Given the description of an element on the screen output the (x, y) to click on. 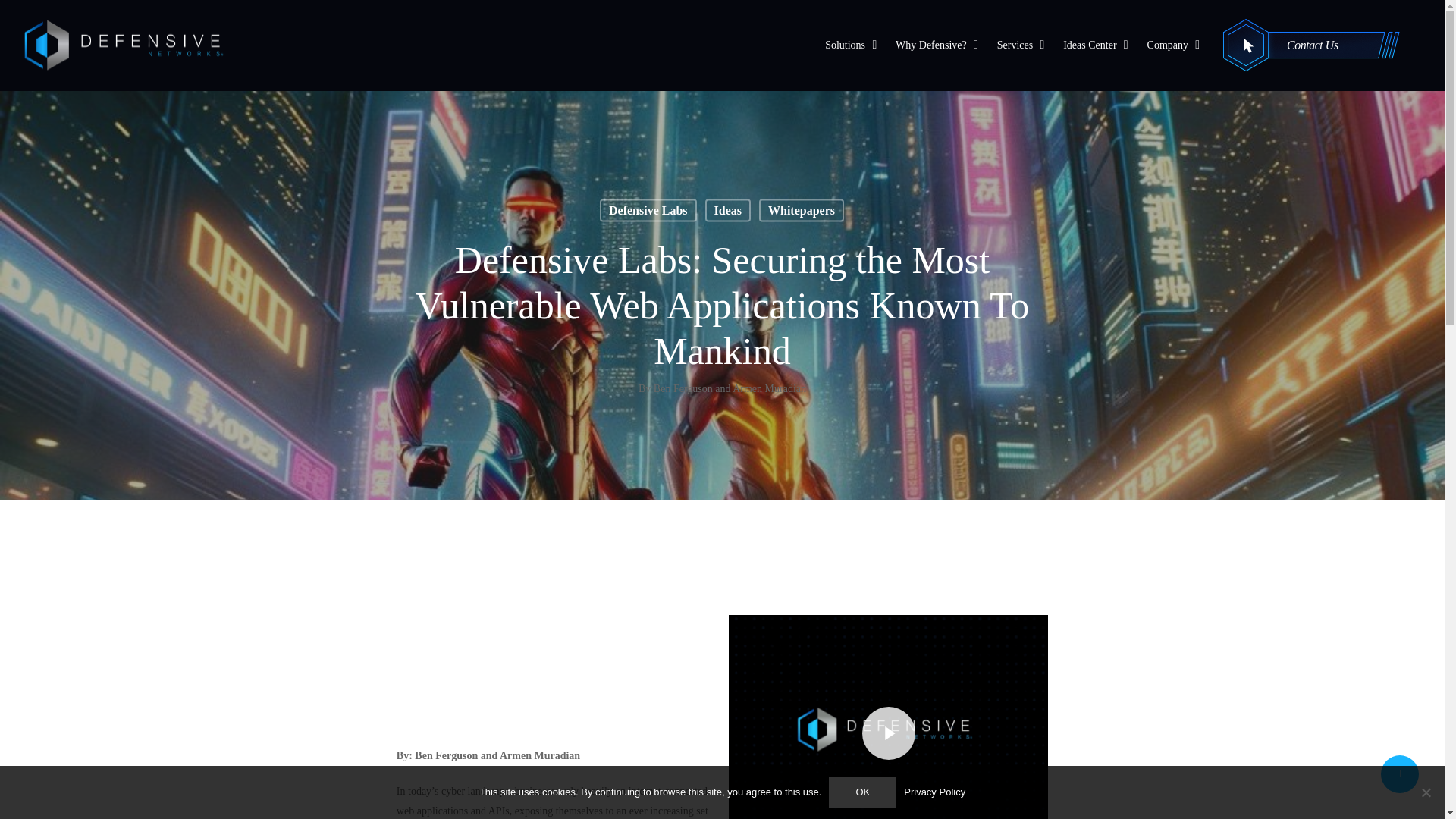
Solutions (852, 45)
Decline (1425, 792)
